Given the description of an element on the screen output the (x, y) to click on. 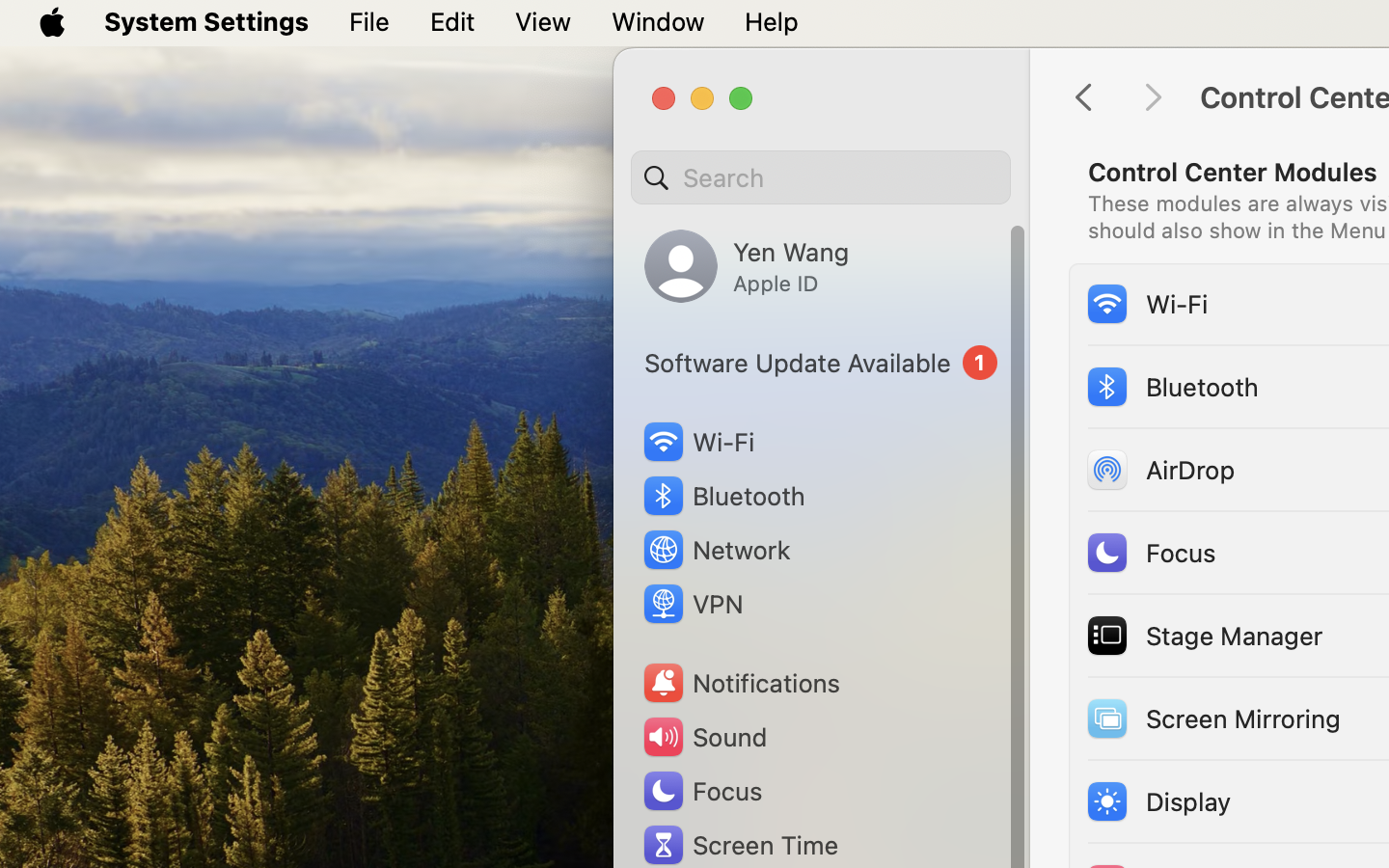
Sound Element type: AXStaticText (703, 736)
Network Element type: AXStaticText (715, 549)
Notifications Element type: AXStaticText (740, 682)
Stage Manager Element type: AXStaticText (1203, 634)
Bluetooth Element type: AXStaticText (1171, 385)
